Given the description of an element on the screen output the (x, y) to click on. 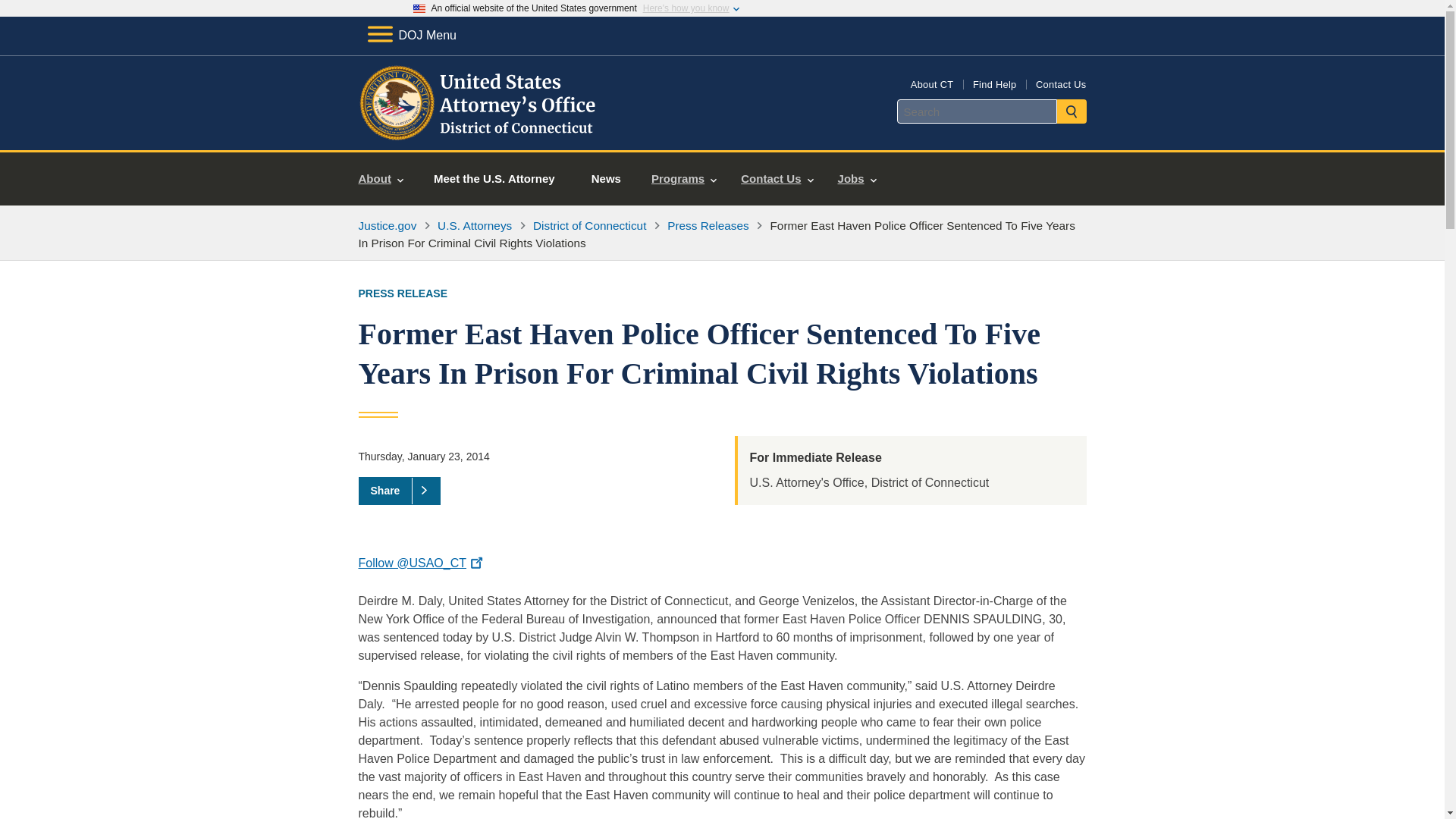
Share (398, 490)
Meet the U.S. Attorney (493, 179)
Justice.gov (387, 225)
About (380, 179)
Press Releases (707, 225)
Jobs (856, 179)
About CT (932, 84)
Contact Us (777, 179)
Home (478, 132)
Here's how you know (686, 8)
U.S. Attorneys (475, 225)
Find Help (994, 84)
District of Connecticut (589, 225)
DOJ Menu (411, 35)
Programs (684, 179)
